Given the description of an element on the screen output the (x, y) to click on. 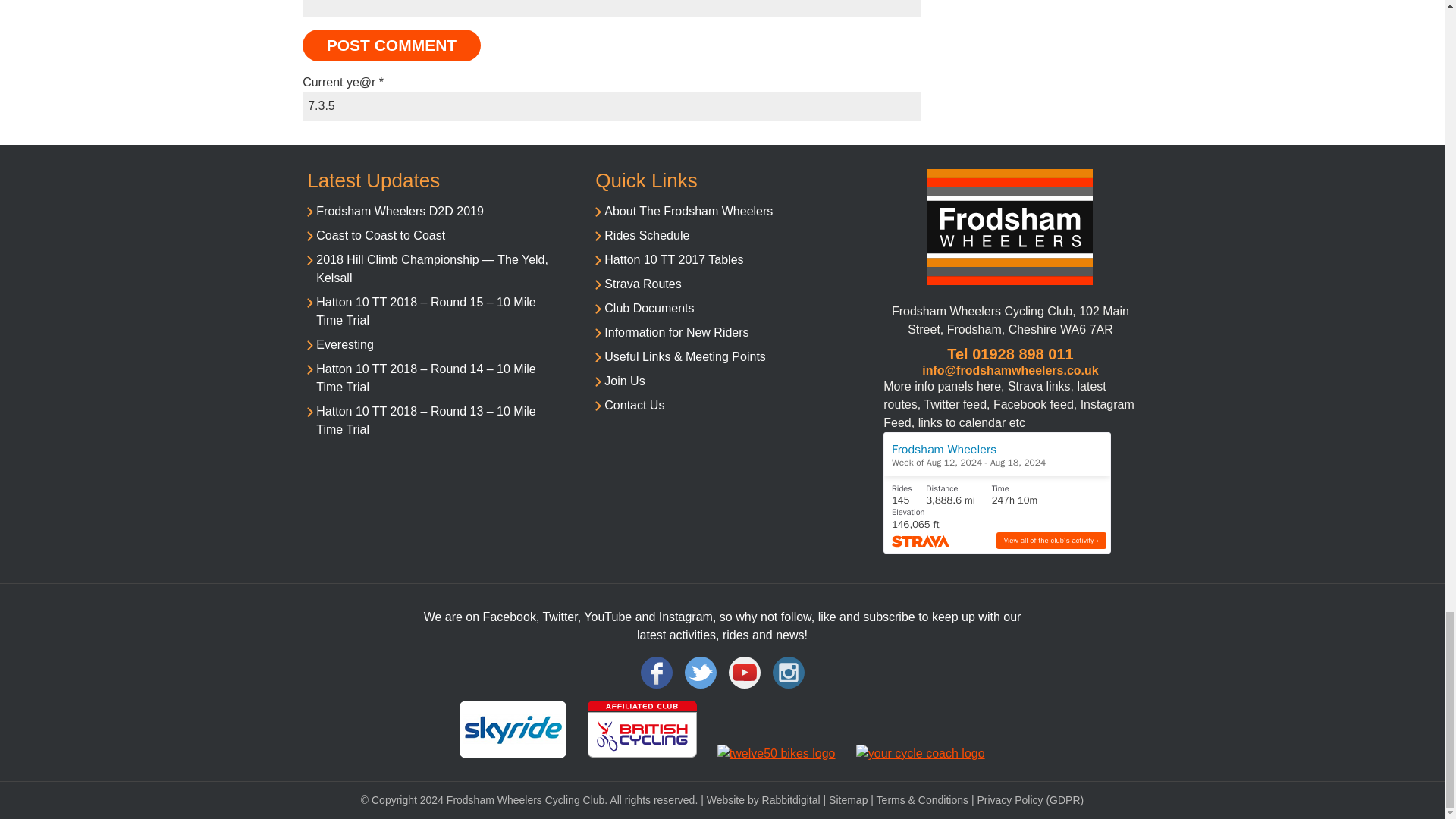
Post Comment (391, 45)
Website by Rabbitdigital Design (791, 799)
7.3.5 (611, 105)
